Given the description of an element on the screen output the (x, y) to click on. 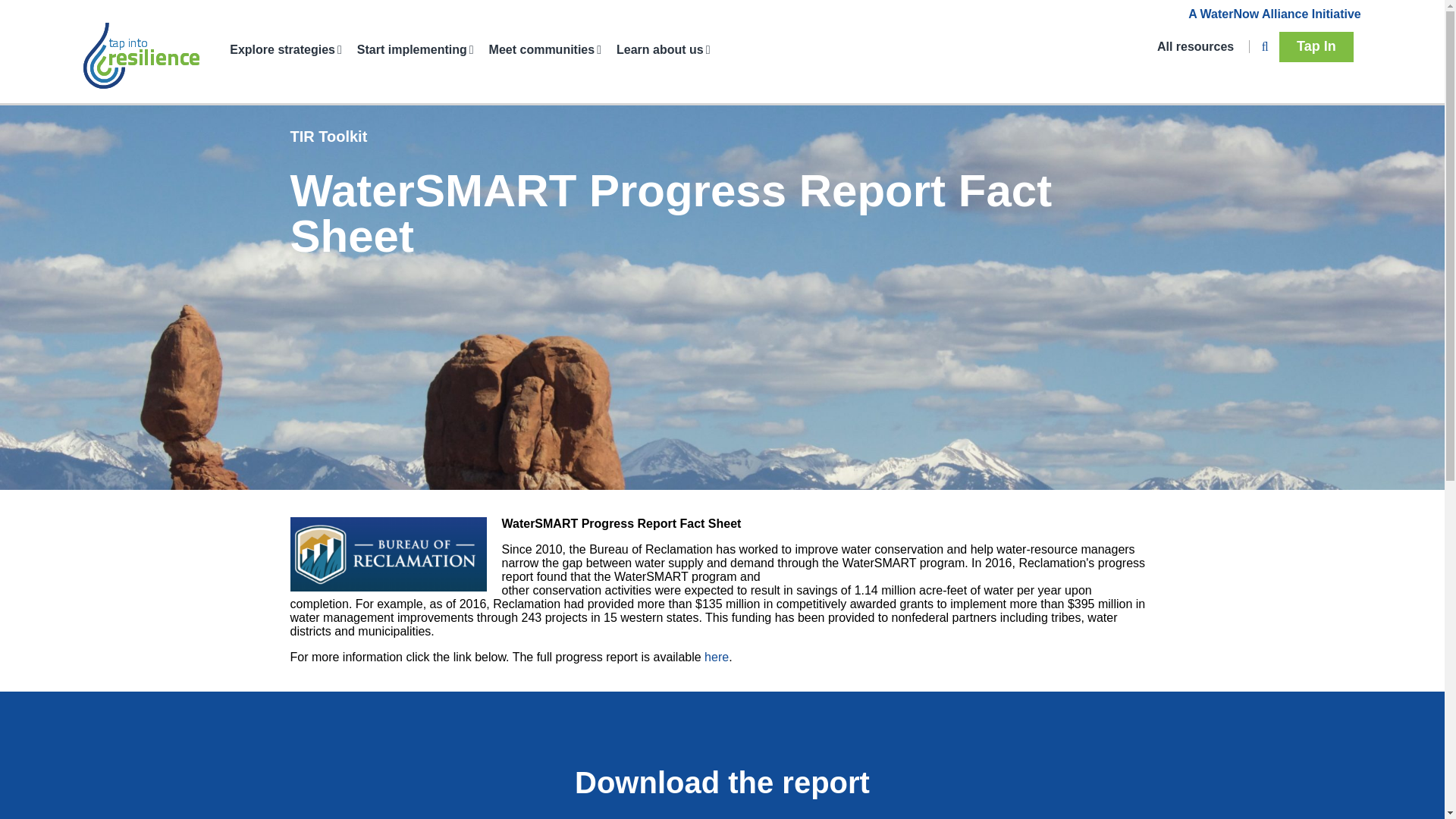
Meet communities (552, 48)
Learn about us (670, 48)
Explore strategies (293, 48)
Start implementing (422, 48)
